Given the description of an element on the screen output the (x, y) to click on. 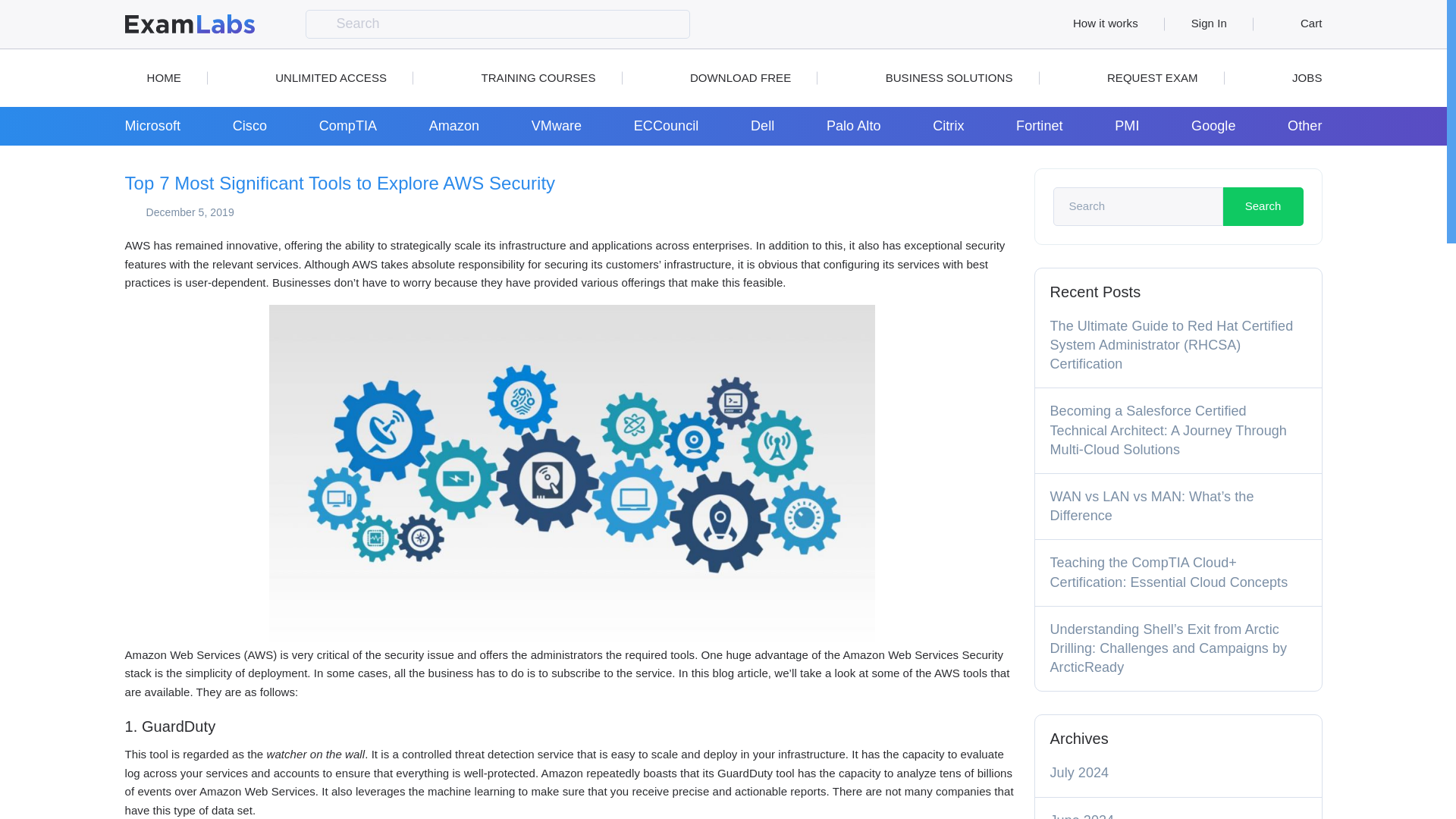
JOBS (1295, 77)
CompTIA (347, 125)
Top 7 Most Significant Tools to Explore AWS Security (338, 183)
DOWNLOAD FREE (729, 77)
Cart (1300, 23)
BUSINESS SOLUTIONS (938, 77)
REQUEST EXAM (1141, 77)
UNLIMITED ACCESS (320, 77)
How it works (1096, 23)
Sign In (1209, 23)
Microsoft (151, 125)
HOME (151, 77)
Cisco (249, 125)
TRAINING COURSES (526, 77)
